Given the description of an element on the screen output the (x, y) to click on. 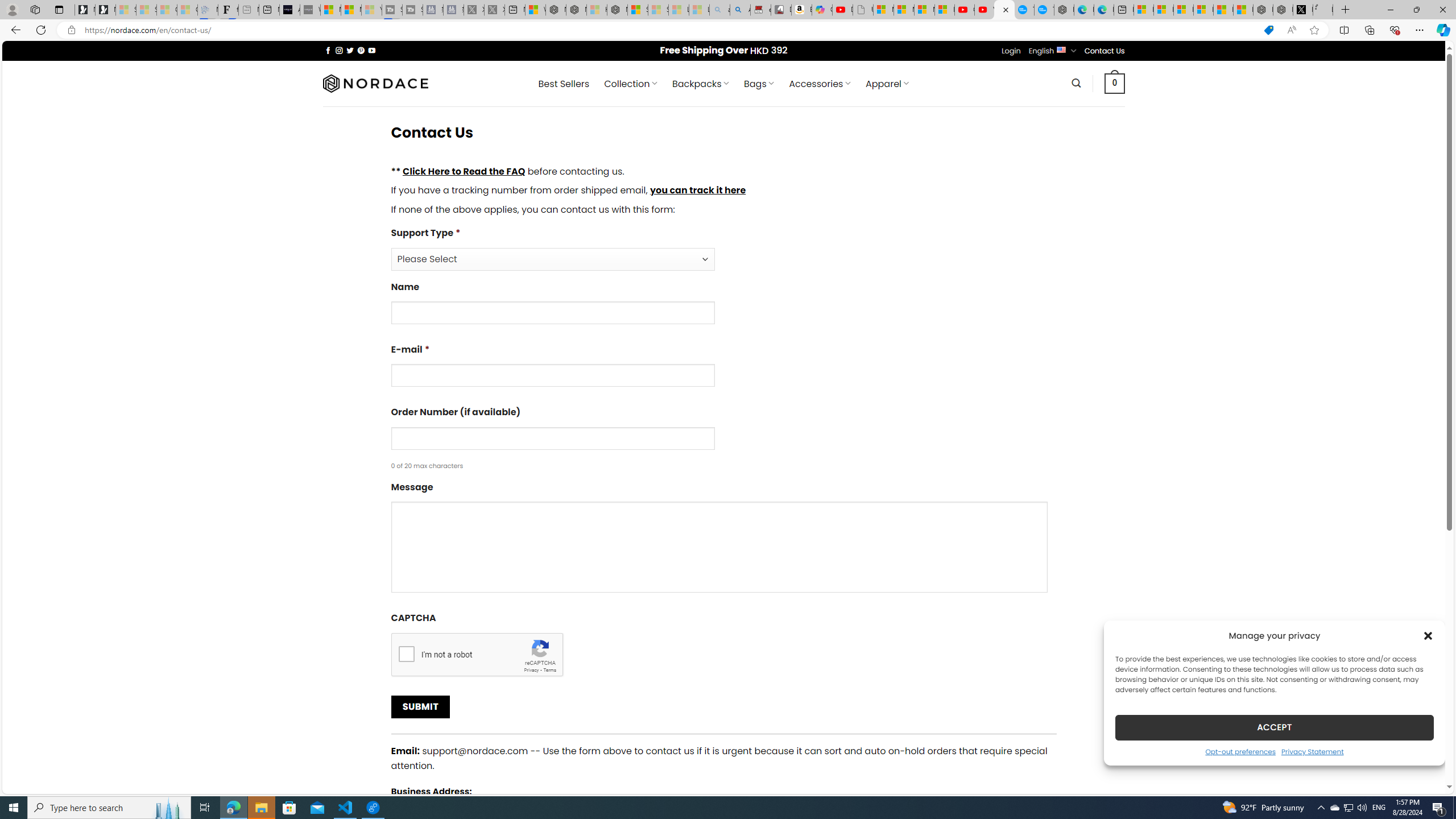
E-mail* (723, 369)
CAPTCHAPrivacyTerms (723, 643)
Submit (419, 707)
Order Number (if available)0 of 20 max characters (723, 437)
